Given the description of an element on the screen output the (x, y) to click on. 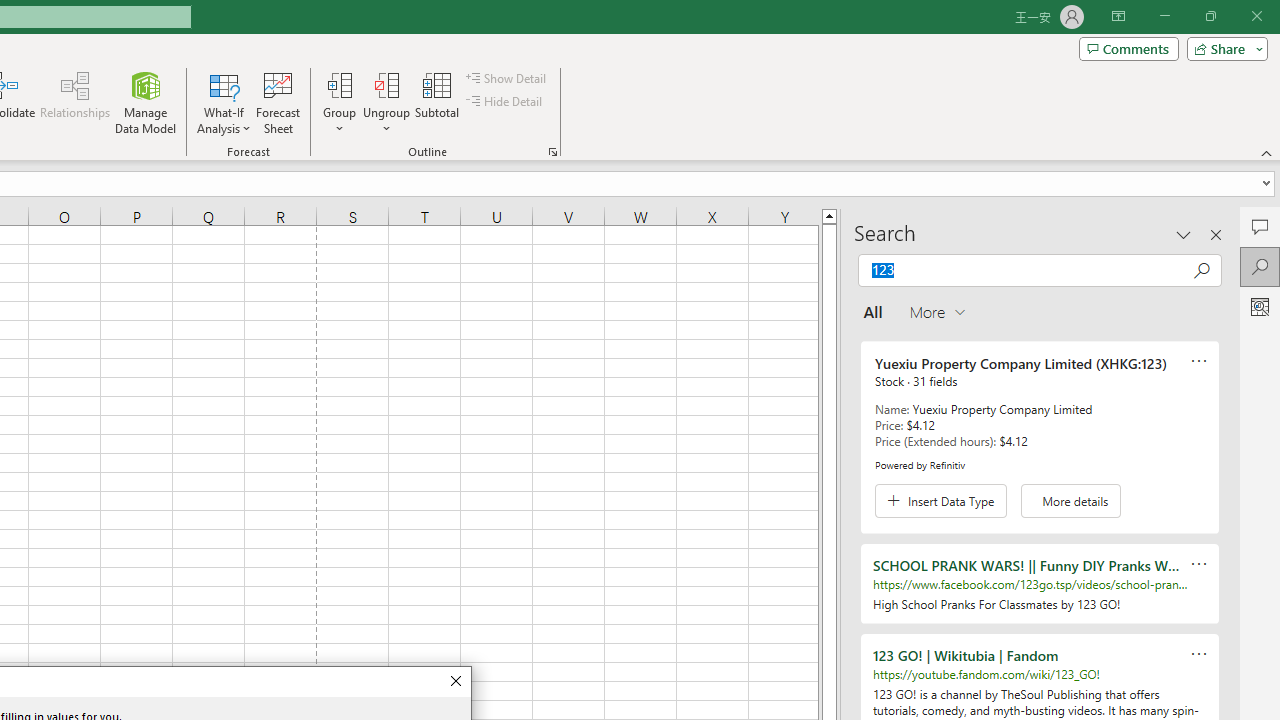
Relationships (75, 102)
